Given the description of an element on the screen output the (x, y) to click on. 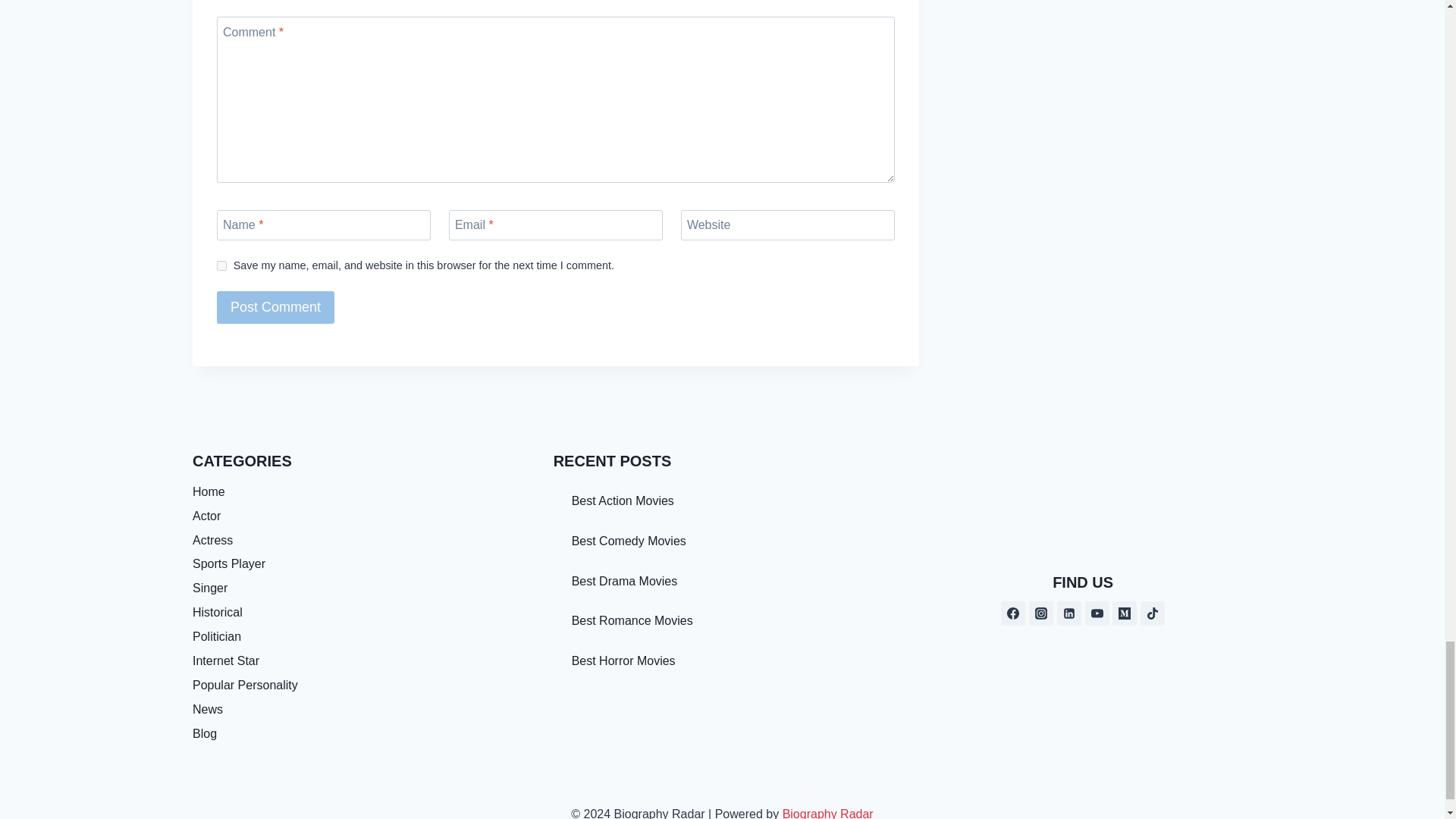
yes (221, 266)
Post Comment (275, 307)
